Given the description of an element on the screen output the (x, y) to click on. 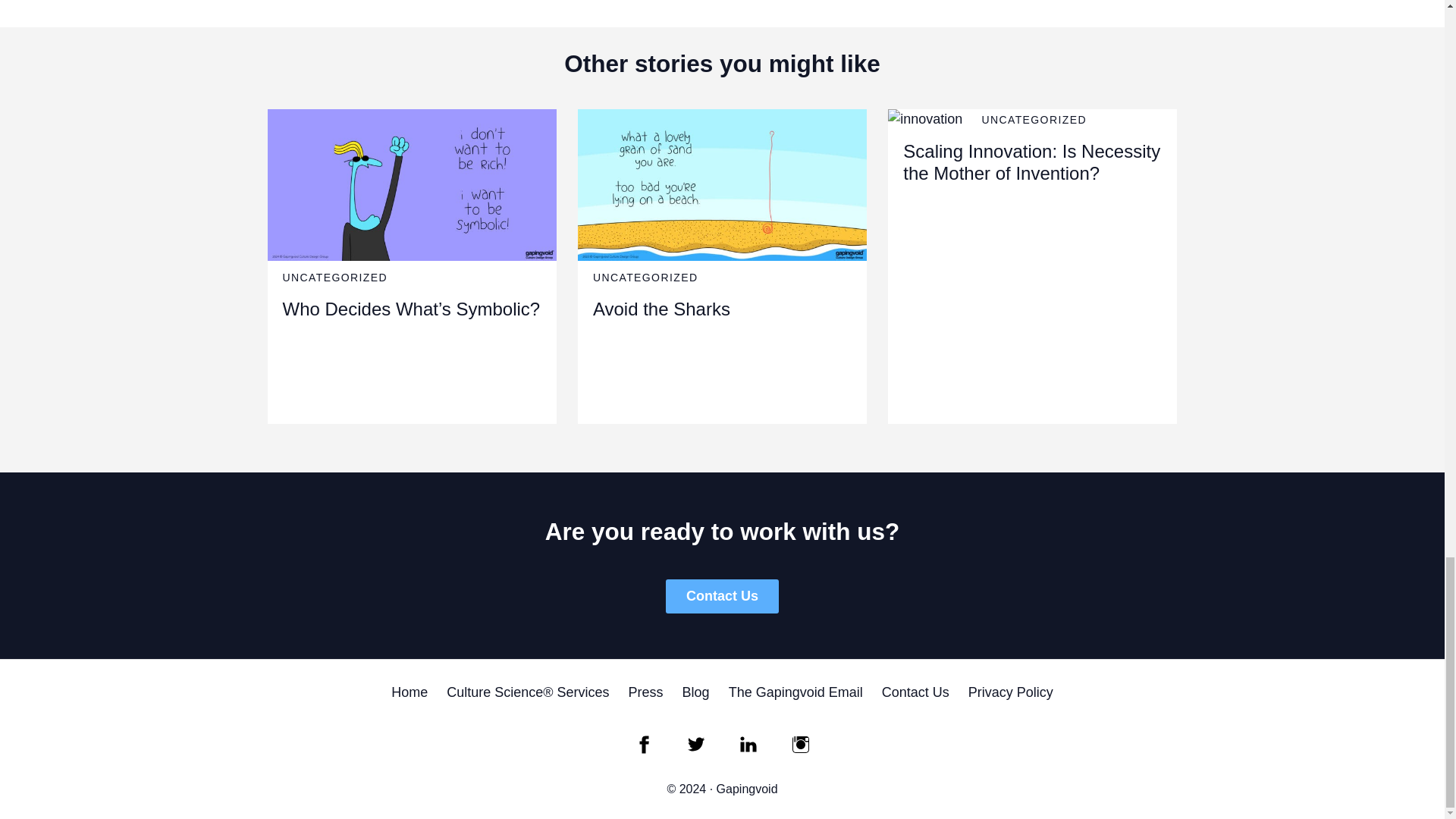
UNCATEGORIZED (334, 277)
UNCATEGORIZED (645, 277)
